Given the description of an element on the screen output the (x, y) to click on. 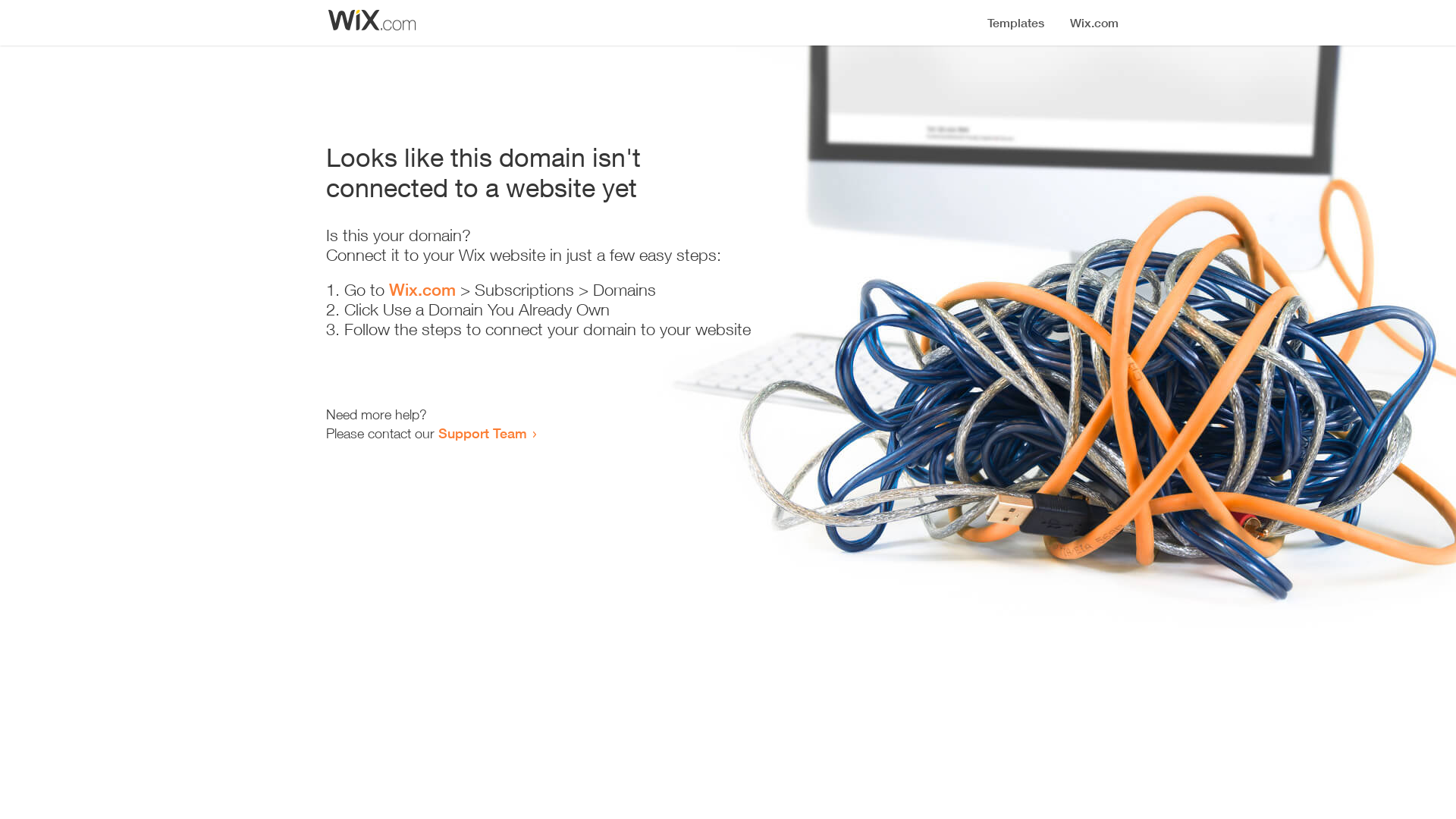
Wix.com Element type: text (422, 289)
Support Team Element type: text (482, 432)
